Given the description of an element on the screen output the (x, y) to click on. 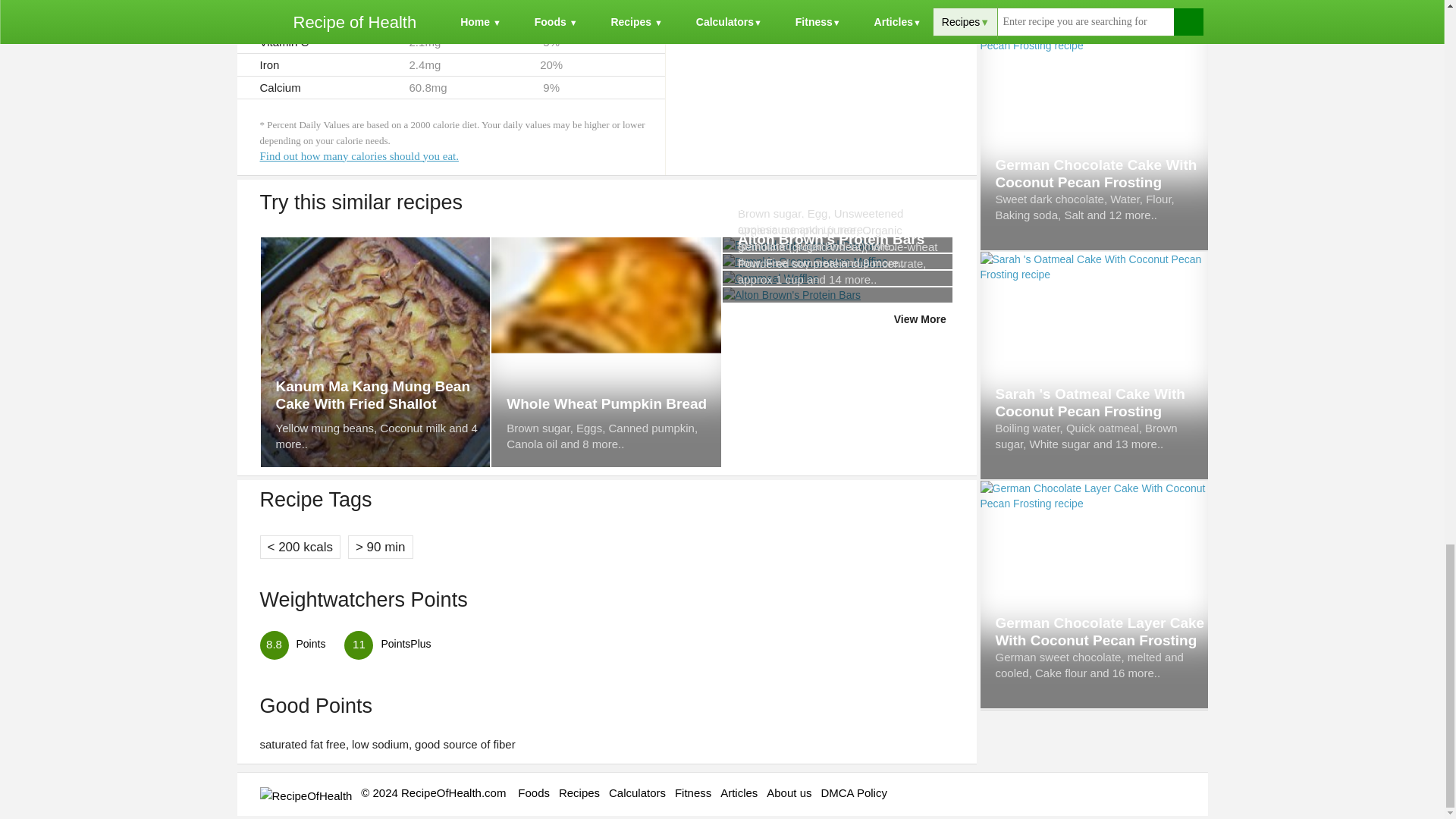
Fitness (693, 792)
Whole Wheat Pumpkin Bread (613, 403)
Kanum Ma Kang Mung Bean Cake With Fried Shallot (383, 394)
Calculators (636, 792)
Articles (738, 792)
Find out how many calories should you eat. (358, 155)
DMCA Policy (853, 792)
About us (788, 792)
Foods (534, 792)
Recipes (579, 792)
